Given the description of an element on the screen output the (x, y) to click on. 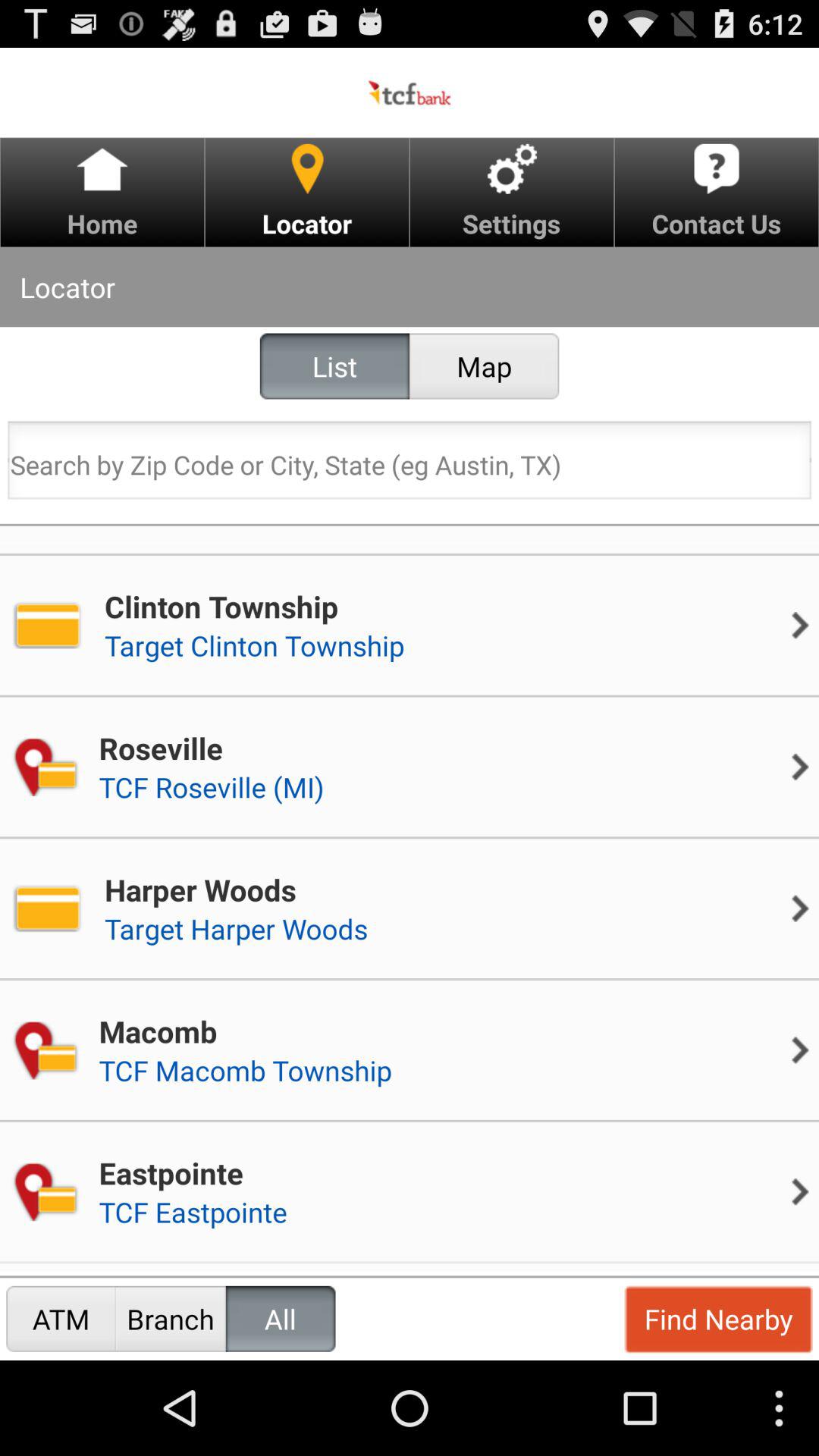
swipe to the all radio button (280, 1318)
